Given the description of an element on the screen output the (x, y) to click on. 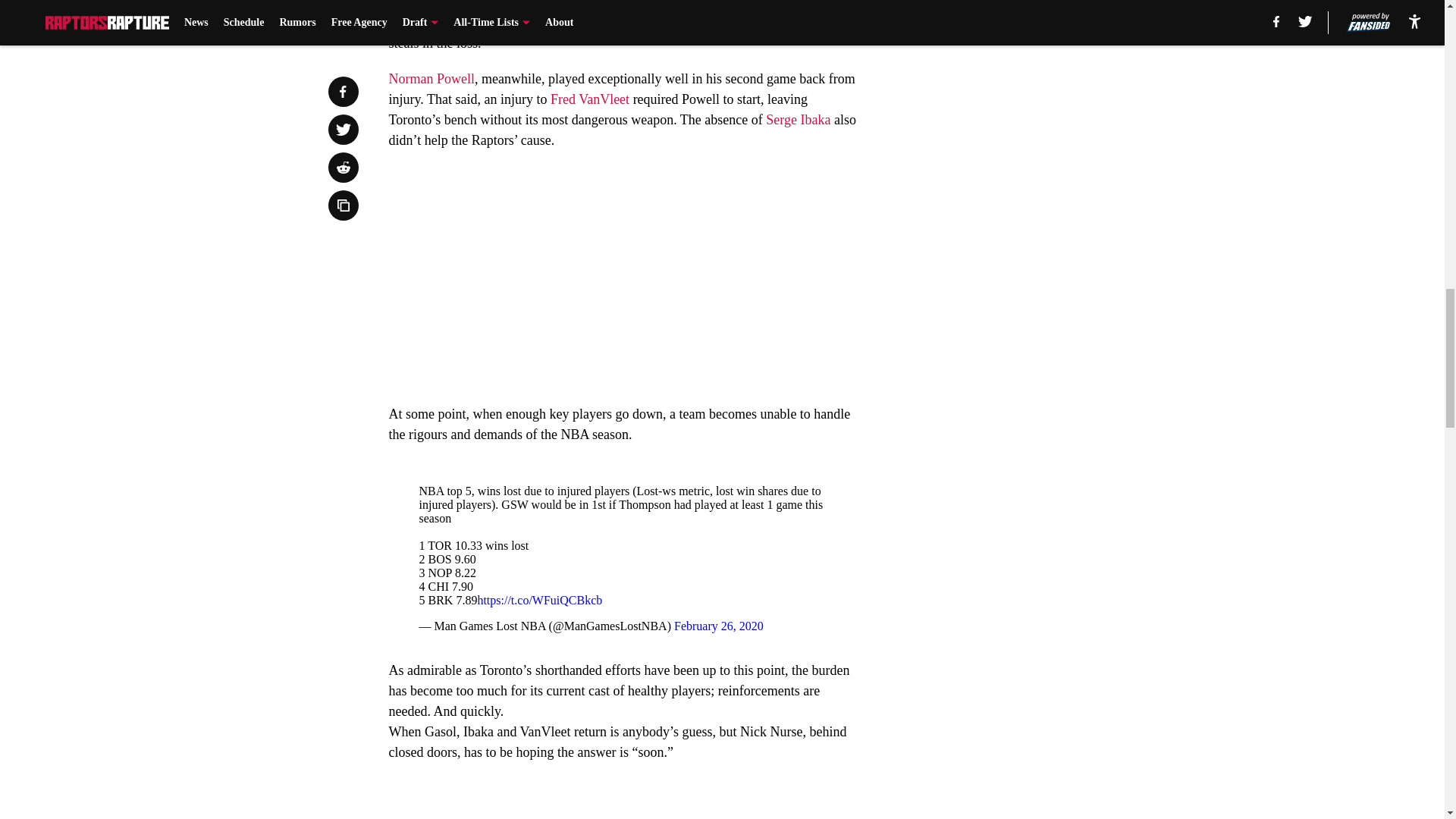
Norman Powell (431, 78)
February 26, 2020 (718, 625)
Fred VanVleet (589, 99)
Serge Ibaka (797, 119)
